Given the description of an element on the screen output the (x, y) to click on. 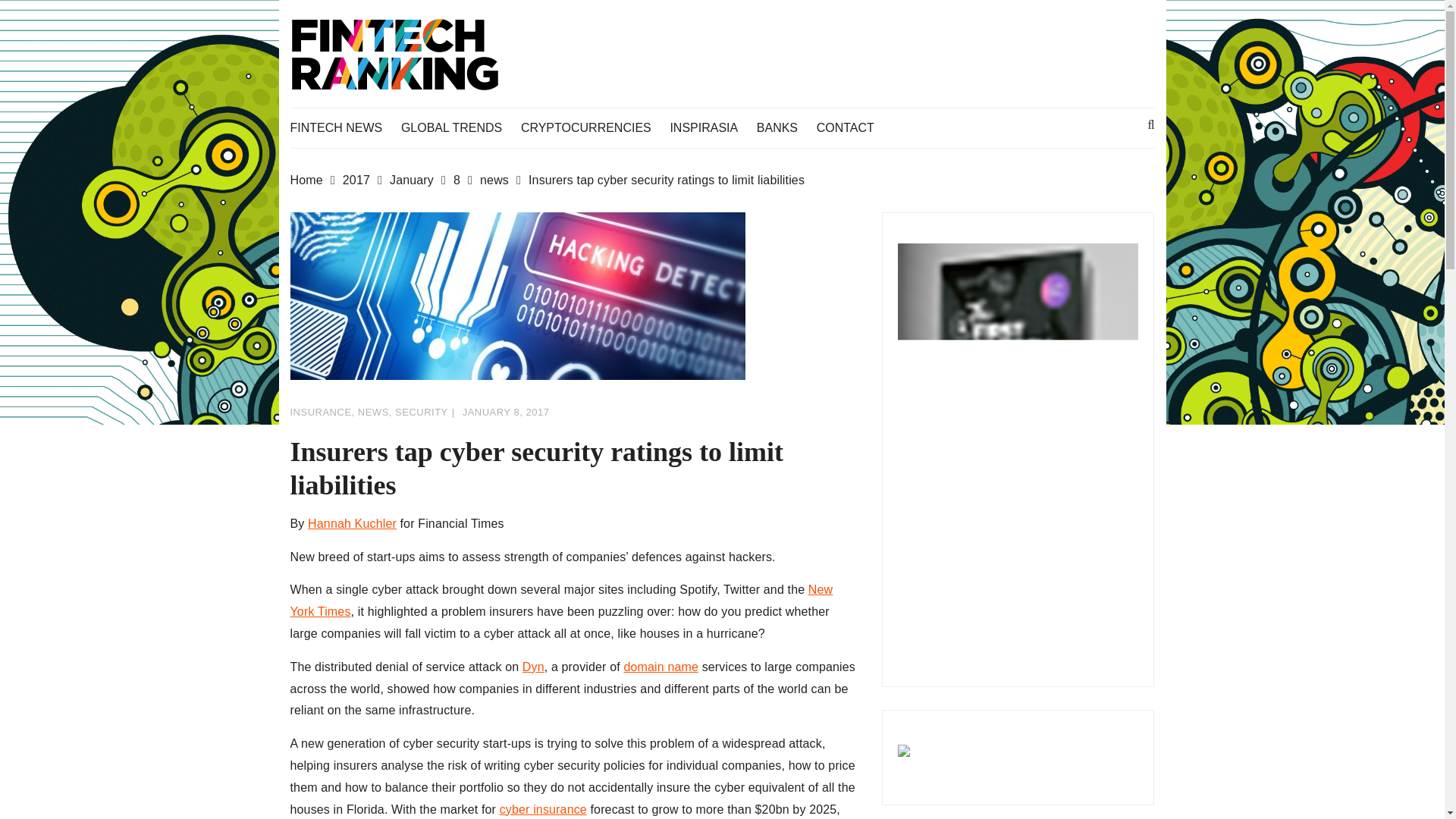
GLOBAL TRENDS (458, 128)
FINTECH NEWS (343, 128)
January (421, 180)
INSPIRASIA (710, 128)
2017 (366, 180)
Home (315, 180)
CONTACT (852, 128)
CRYPTOCURRENCIES (593, 128)
BANKS (784, 128)
